Given the description of an element on the screen output the (x, y) to click on. 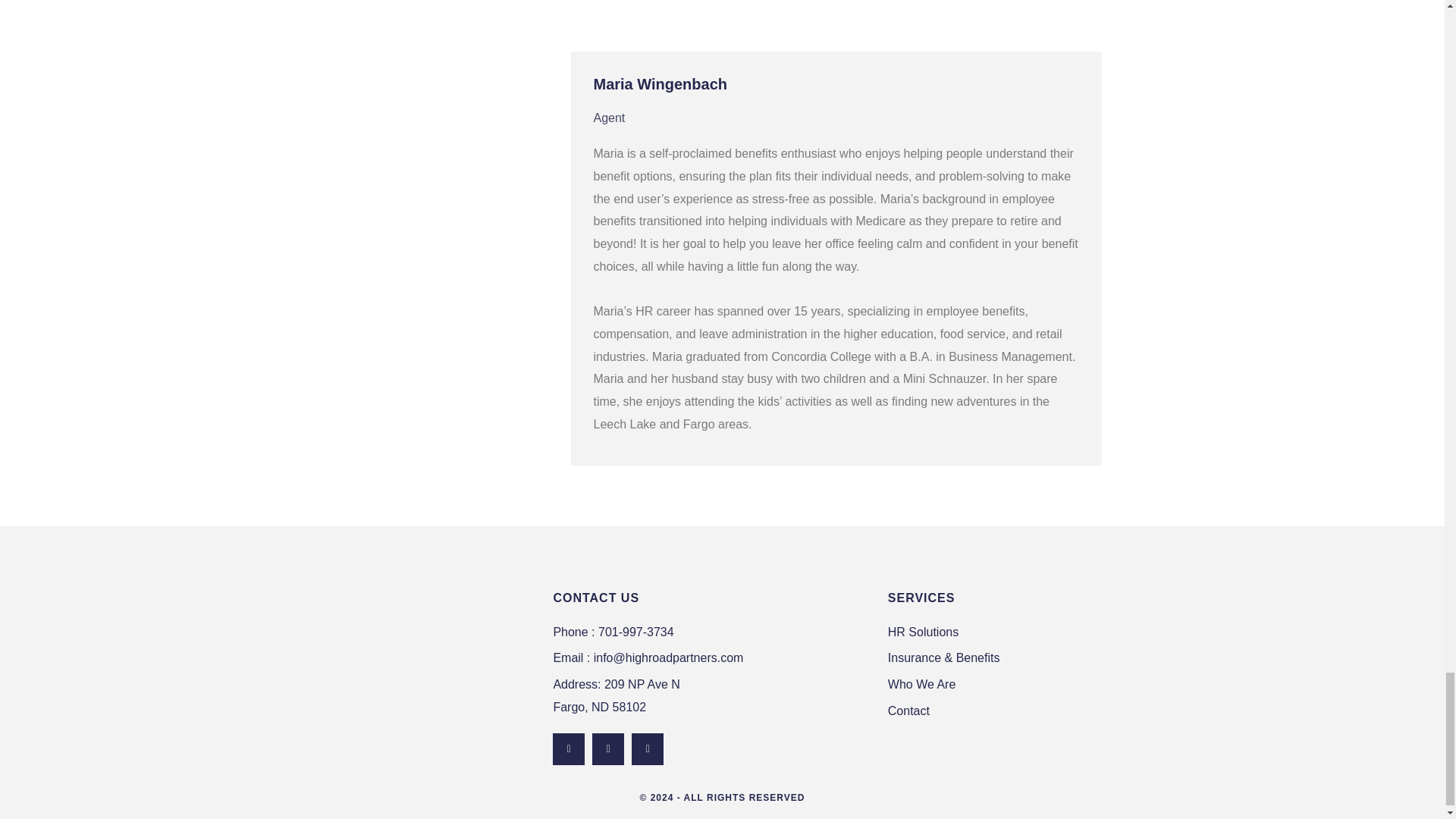
Phone : 701-997-3734 (712, 631)
Instagram (647, 748)
HR Solutions (1037, 631)
Facebook-f (712, 695)
Who We Are (608, 748)
Linkedin (1037, 684)
Contact (569, 748)
